Given the description of an element on the screen output the (x, y) to click on. 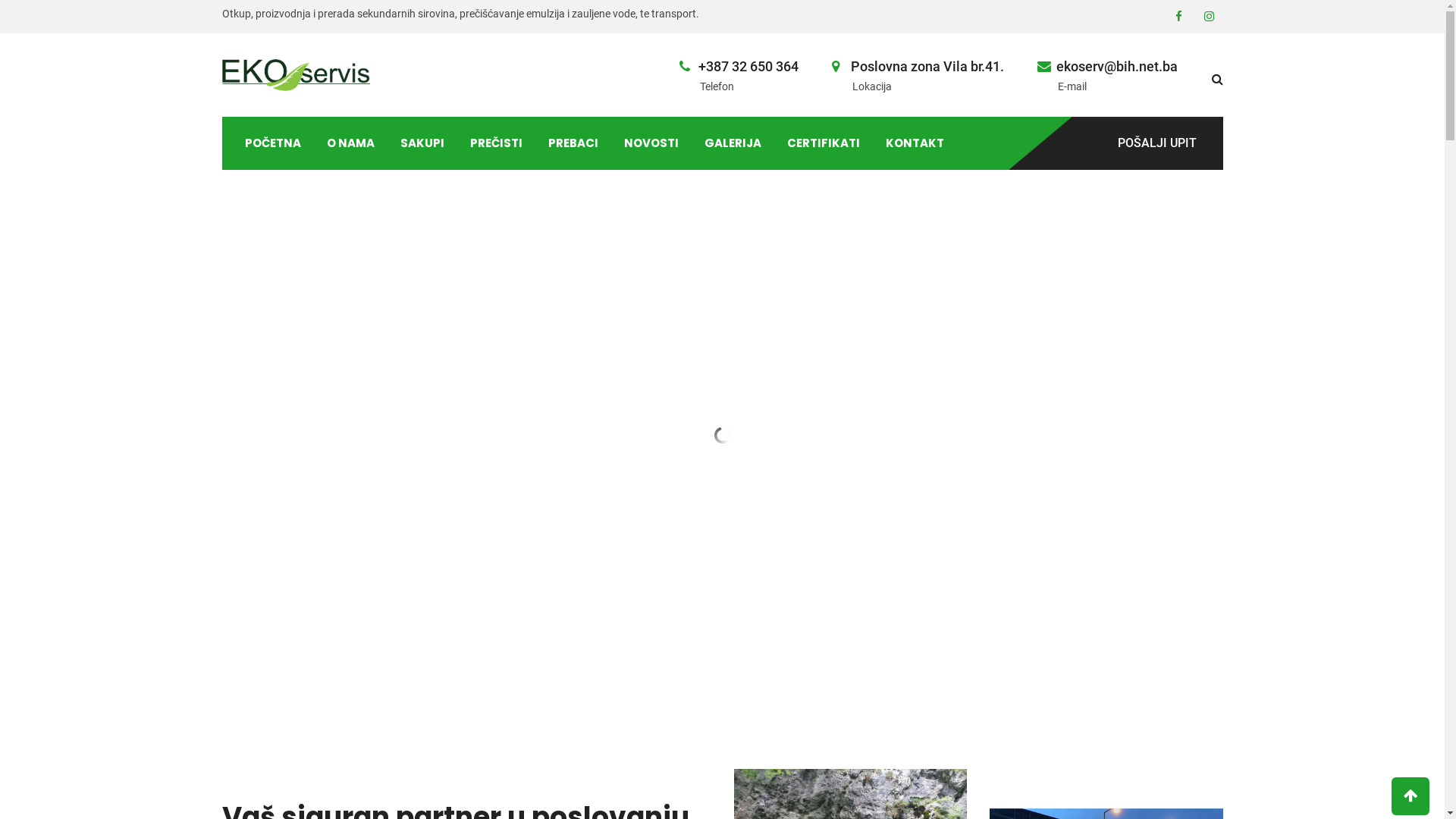
PREBACI Element type: text (572, 142)
+387 32 650 364 Element type: text (747, 66)
Skip to content Element type: text (0, 0)
CERTIFIKATI Element type: text (822, 142)
KONTAKT Element type: text (913, 142)
GALERIJA Element type: text (732, 142)
O NAMA Element type: text (350, 142)
NOVOSTI Element type: text (651, 142)
SAKUPI Element type: text (421, 142)
